Given the description of an element on the screen output the (x, y) to click on. 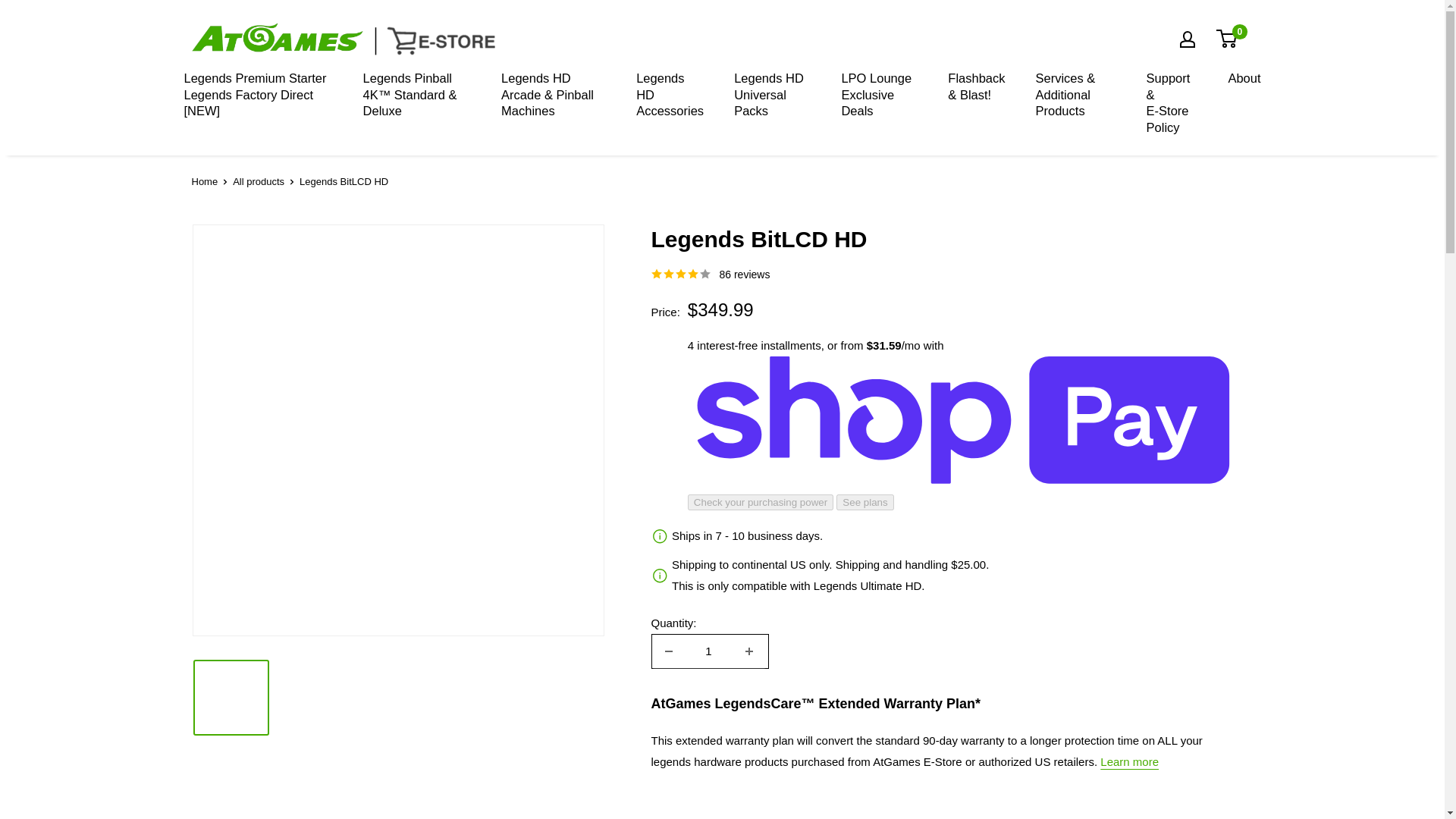
Decrease quantity by 1 (668, 651)
Increase quantity by 1 (748, 651)
1 (708, 651)
